Given the description of an element on the screen output the (x, y) to click on. 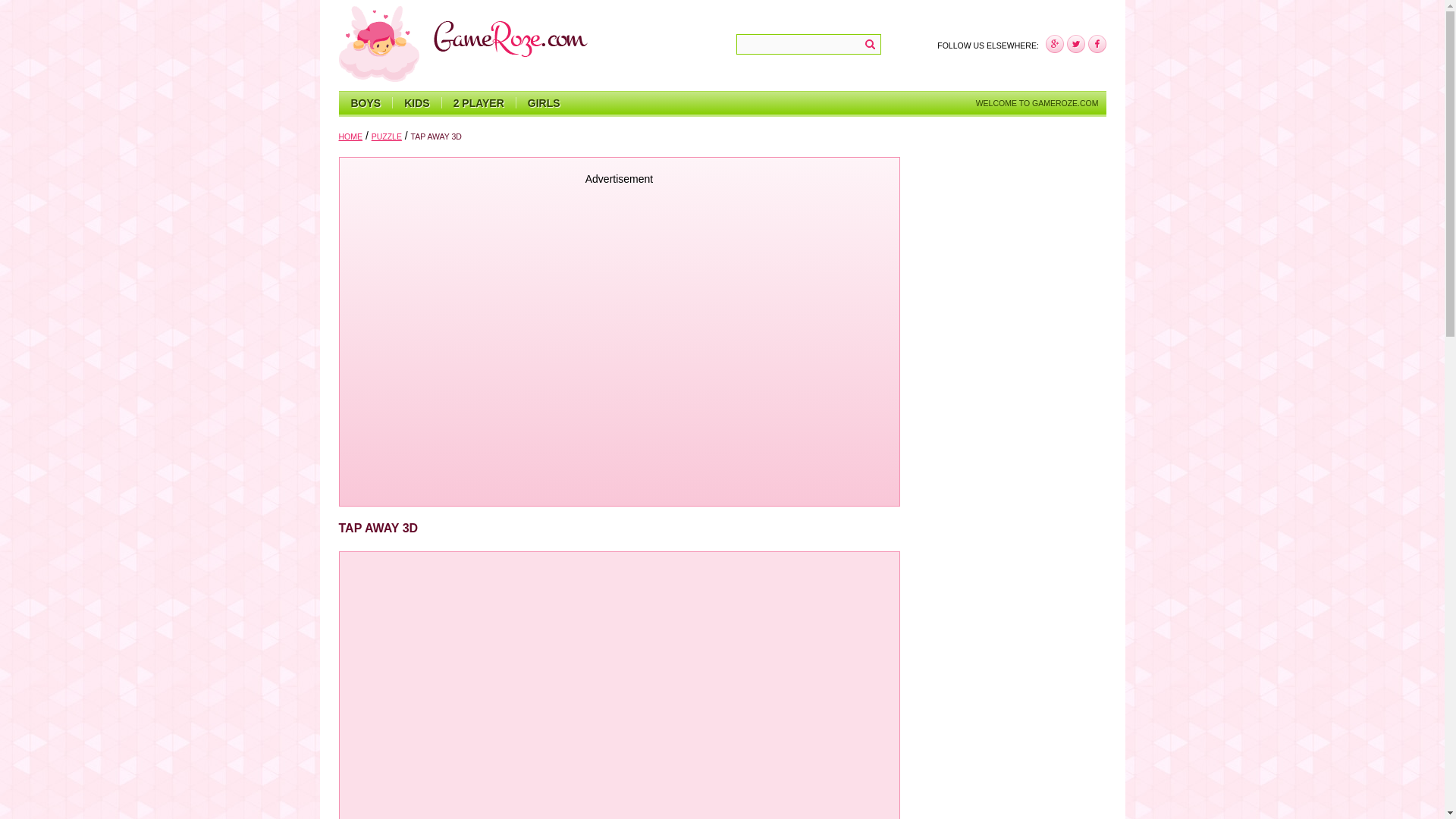
GIRLS (543, 102)
2 PLAYER (478, 102)
twitter (1075, 44)
HOME (349, 135)
BOYS (365, 102)
WELCOME TO GAMEROZE.COM (1037, 103)
PUZZLE (386, 135)
facebook (1054, 44)
KIDS (416, 102)
